Given the description of an element on the screen output the (x, y) to click on. 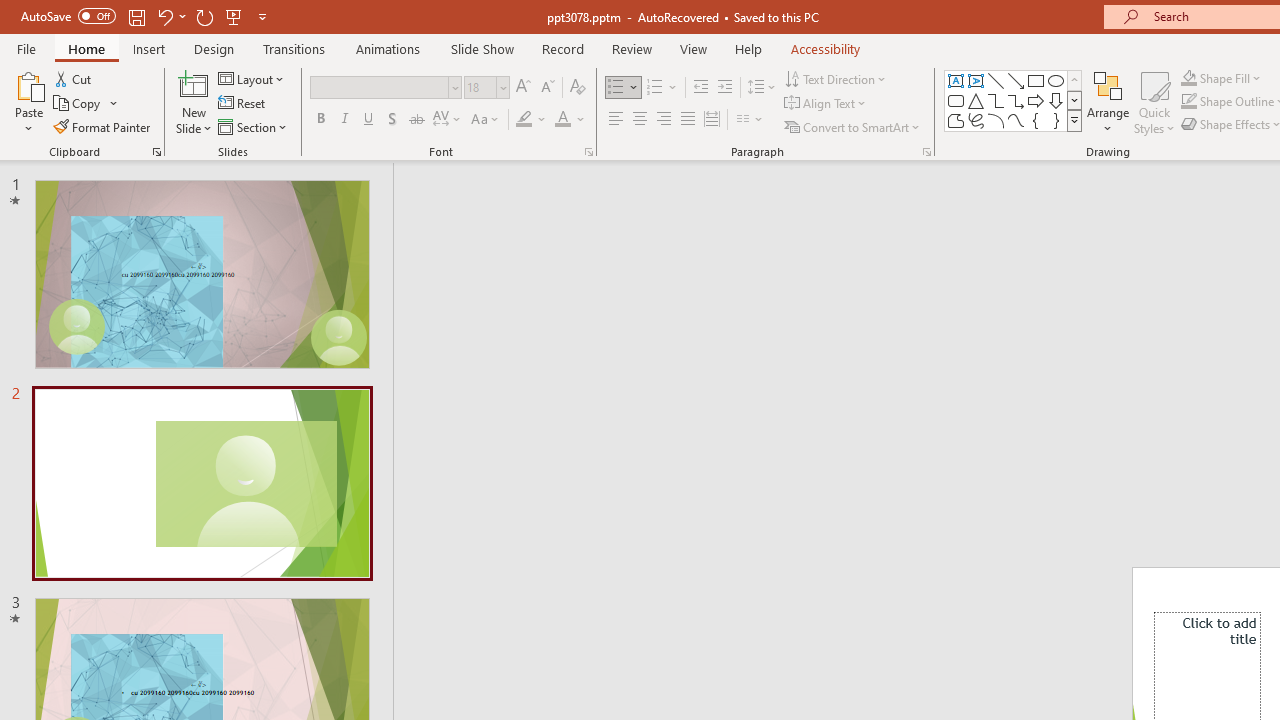
Connector: Elbow (995, 100)
Shape Outline Green, Accent 1 (1188, 101)
Help (748, 48)
Paragraph... (926, 151)
Vertical Text Box (975, 80)
Transitions (294, 48)
Line Spacing (762, 87)
From Beginning (234, 15)
Animations (388, 48)
Decrease Font Size (547, 87)
Quick Access Toolbar (145, 16)
Font Size (480, 87)
Strikethrough (416, 119)
Class: NetUIImage (1075, 120)
